Given the description of an element on the screen output the (x, y) to click on. 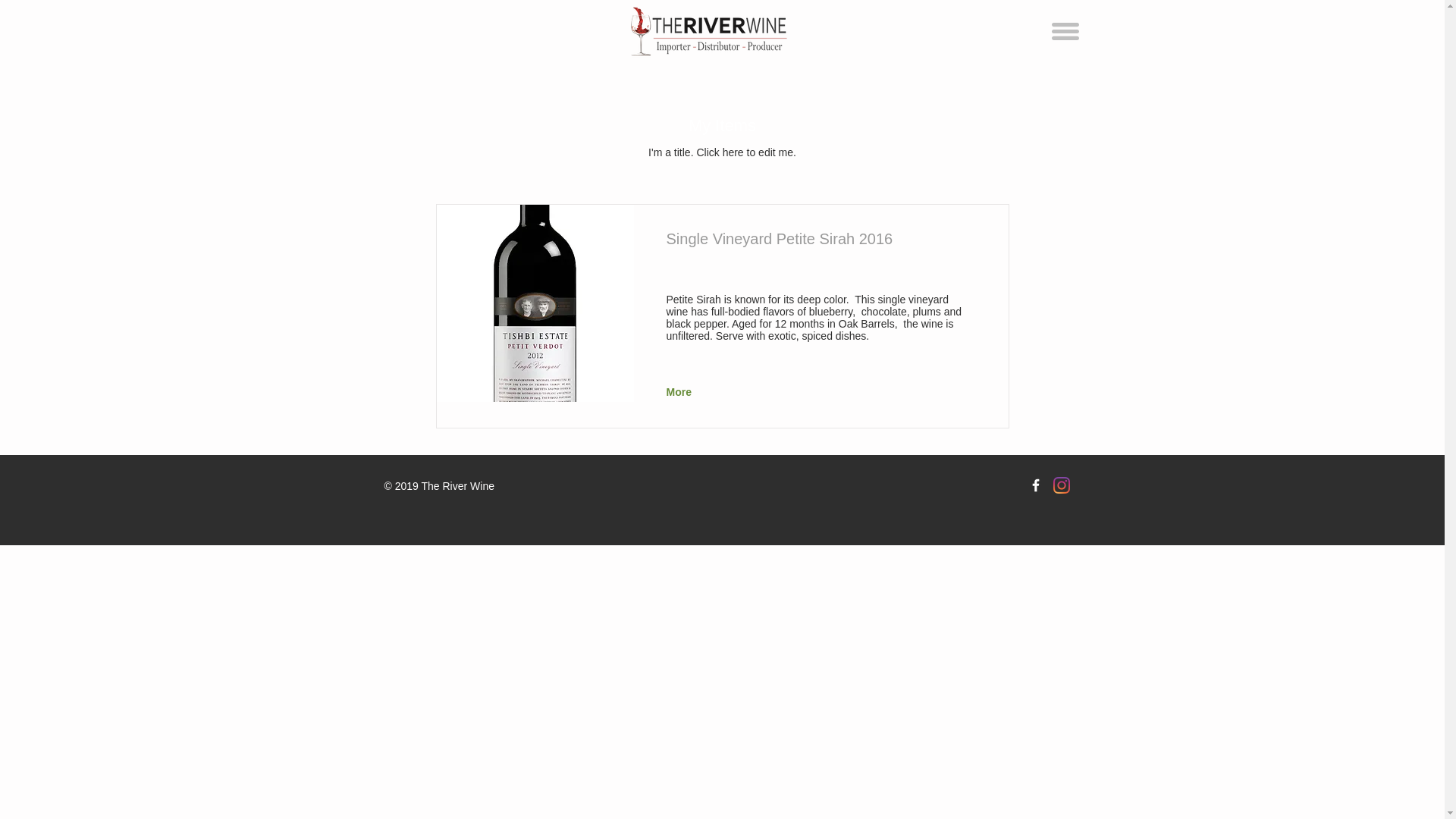
More (680, 392)
Single Vineyard Petite Sirah 2016 (534, 303)
